Given the description of an element on the screen output the (x, y) to click on. 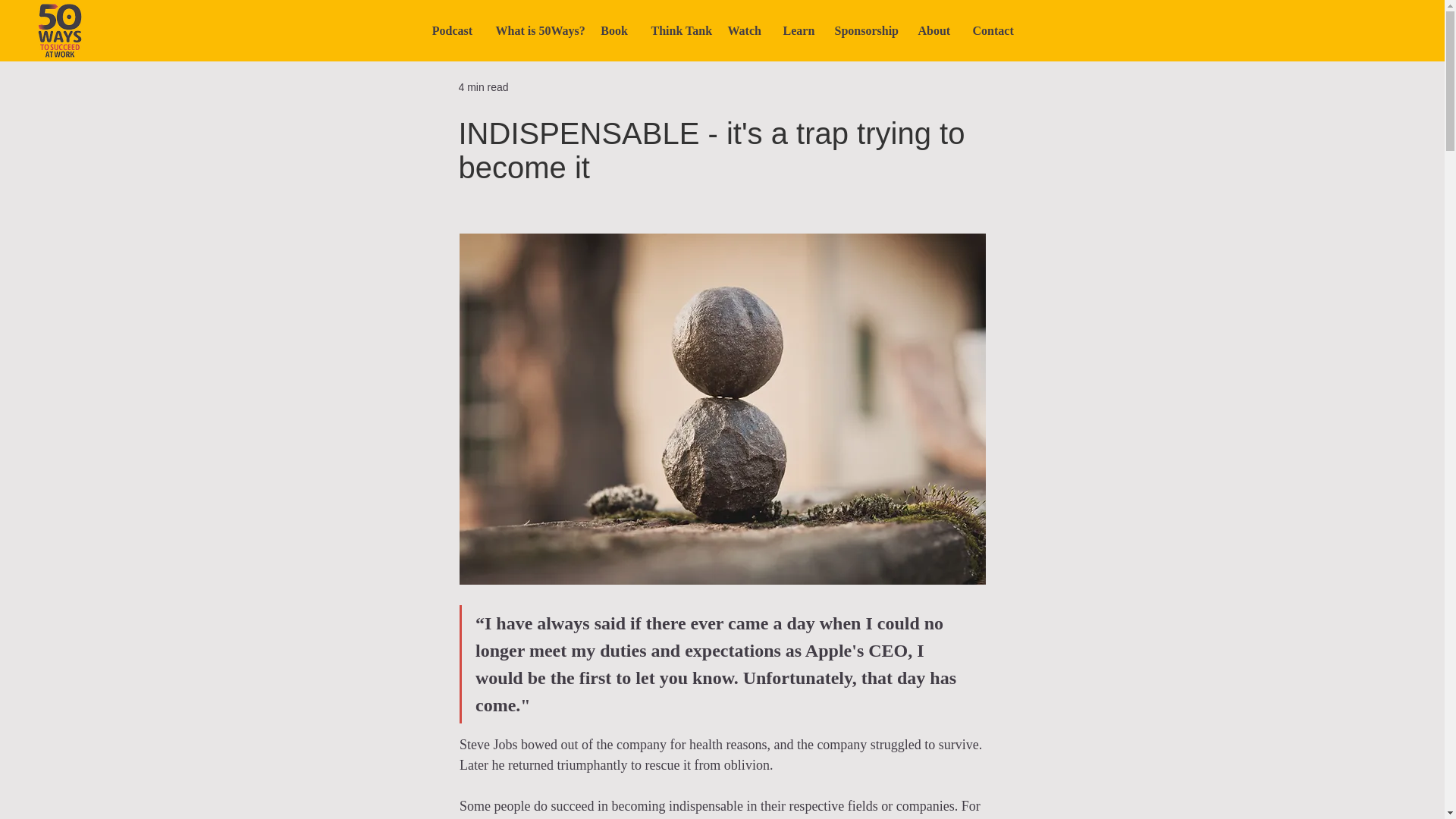
What is 50Ways? (535, 30)
Think Tank (678, 30)
Learn (797, 30)
About (933, 30)
Contact (991, 30)
Watch (743, 30)
Sponsorship (865, 30)
4 min read (483, 86)
Book (613, 30)
Podcast (451, 30)
